Given the description of an element on the screen output the (x, y) to click on. 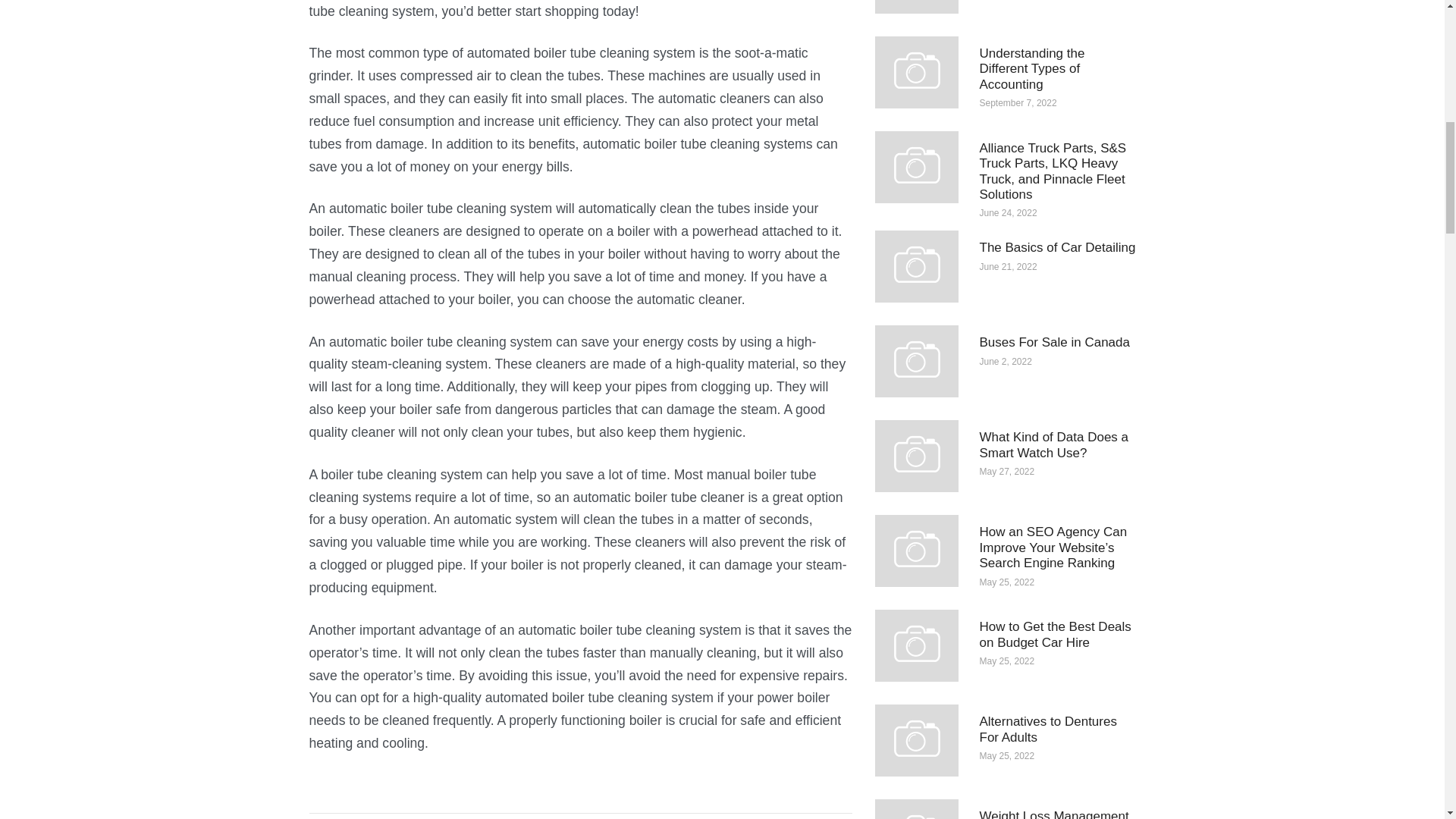
Weight Loss Management Programs (1054, 814)
The Basics of Car Detailing (1057, 247)
How to Get the Best Deals on Budget Car Hire (916, 644)
What Kind of Data Does a Smart Watch Use? (1054, 444)
How to Get the Best Deals on Budget Car Hire (1055, 634)
What Kind of Data Does a Smart Watch Use? (1054, 444)
The Basics of Car Detailing (916, 265)
Understanding the Different Types of Accounting (1031, 68)
Buses For Sale in Canada (1054, 341)
How to Get the Best Deals on Budget Car Hire (1055, 634)
Buses For Sale in Canada (916, 359)
What Kind of Data Does a Smart Watch Use? (916, 454)
Understanding the Different Types of Accounting (1031, 68)
Buses For Sale in Canada (1054, 341)
Alternatives to Dentures For Adults (1047, 728)
